Given the description of an element on the screen output the (x, y) to click on. 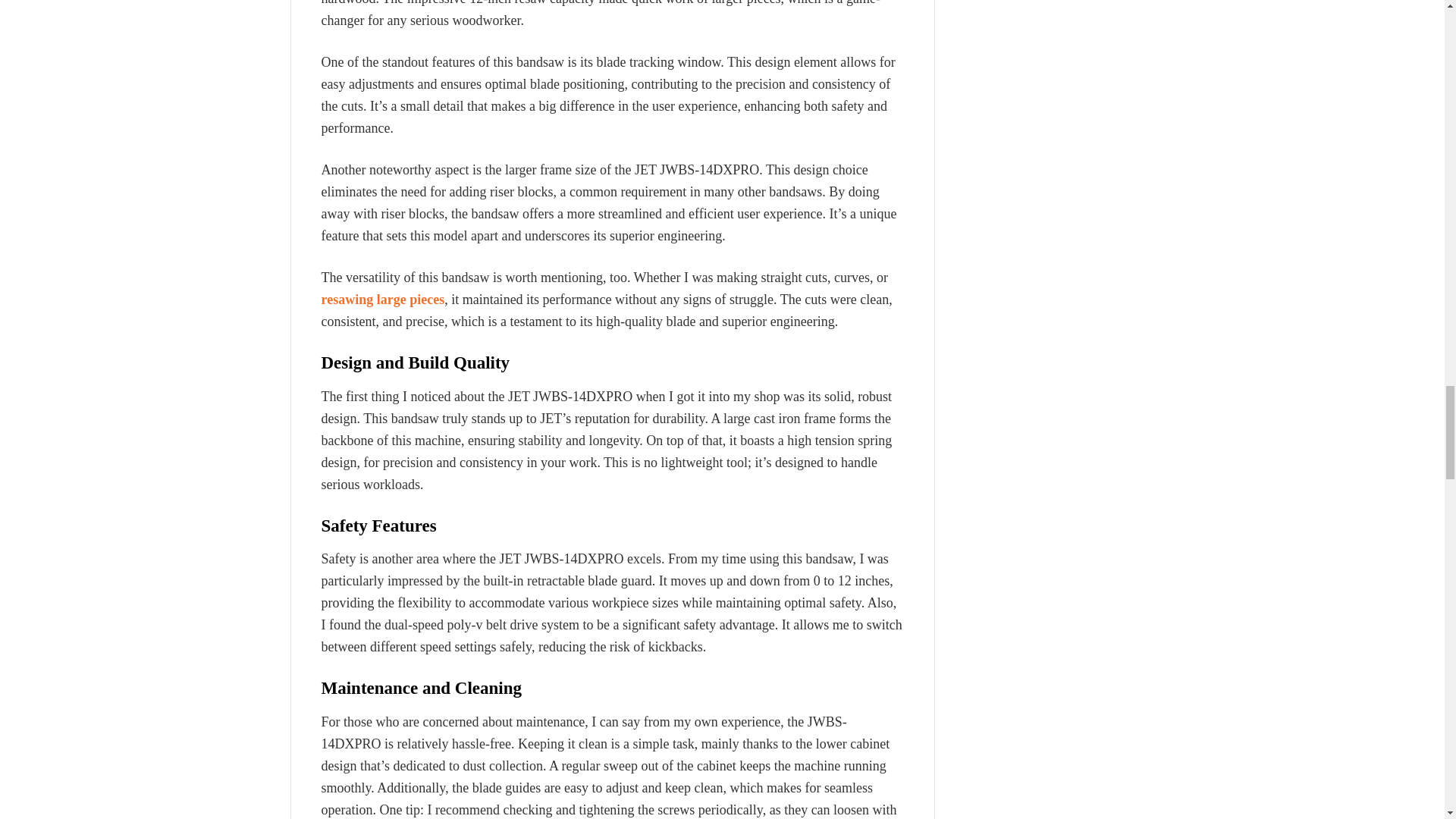
resawing large pieces (383, 299)
